Given the description of an element on the screen output the (x, y) to click on. 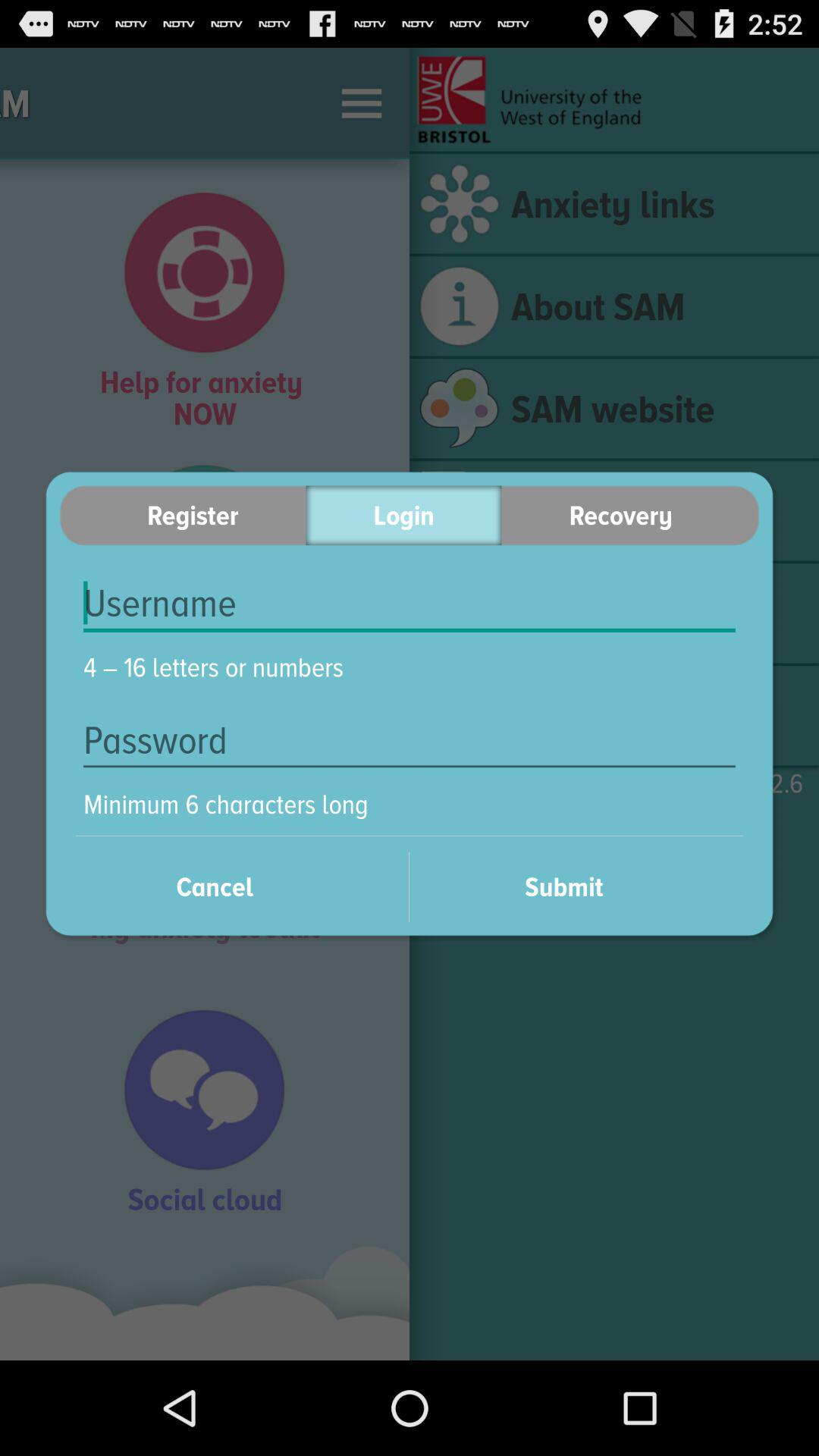
select item below the register item (409, 603)
